Given the description of an element on the screen output the (x, y) to click on. 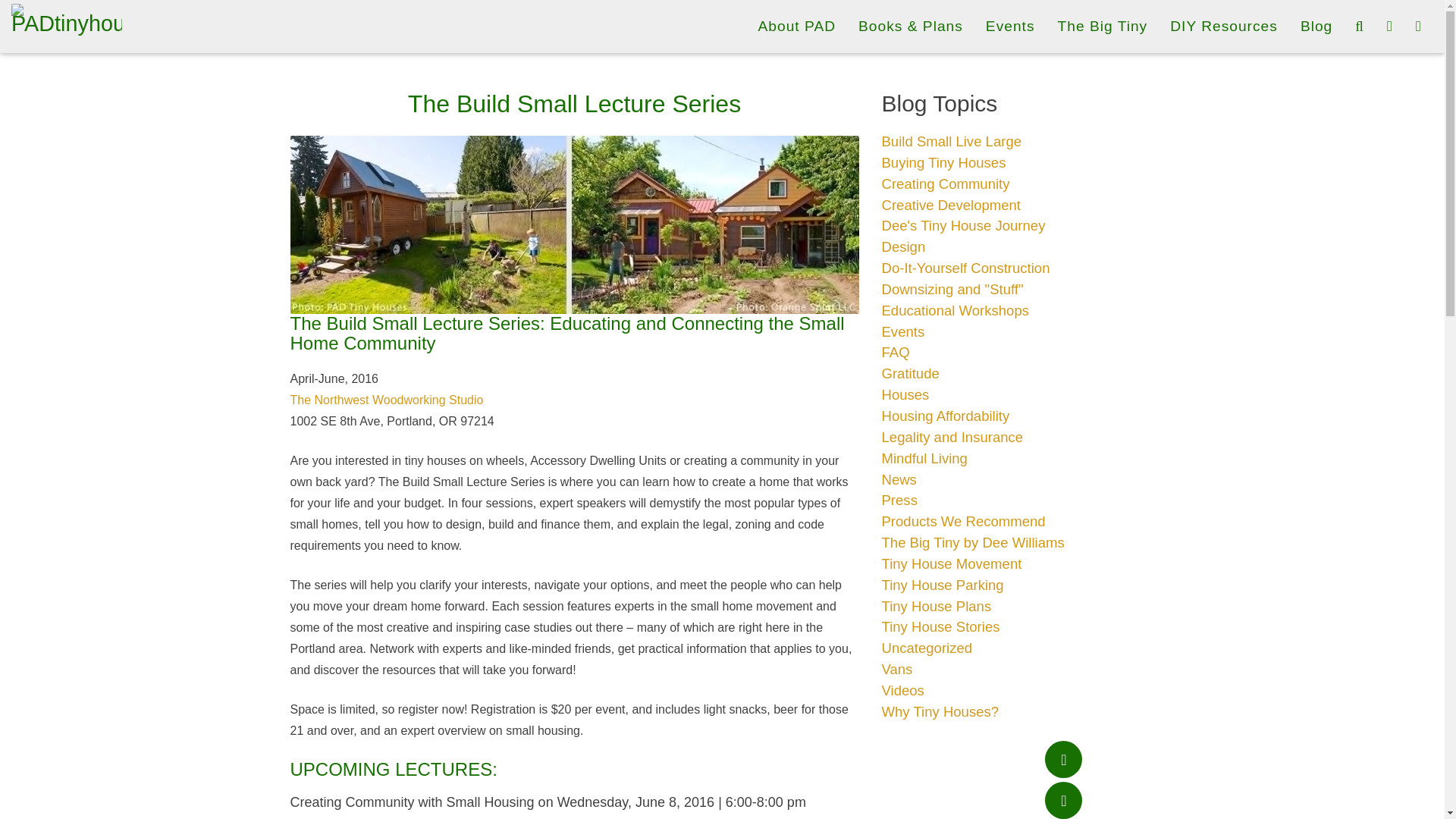
About PAD (796, 26)
Creative Development (950, 204)
The Big Tiny (1102, 26)
Creating Community (944, 183)
Events (1010, 26)
Buying Tiny Houses (943, 162)
The Northwest Woodworking Studio (386, 399)
Blog (1315, 26)
Dee's Tiny House Journey (962, 225)
DIY Resources (1223, 26)
